Given the description of an element on the screen output the (x, y) to click on. 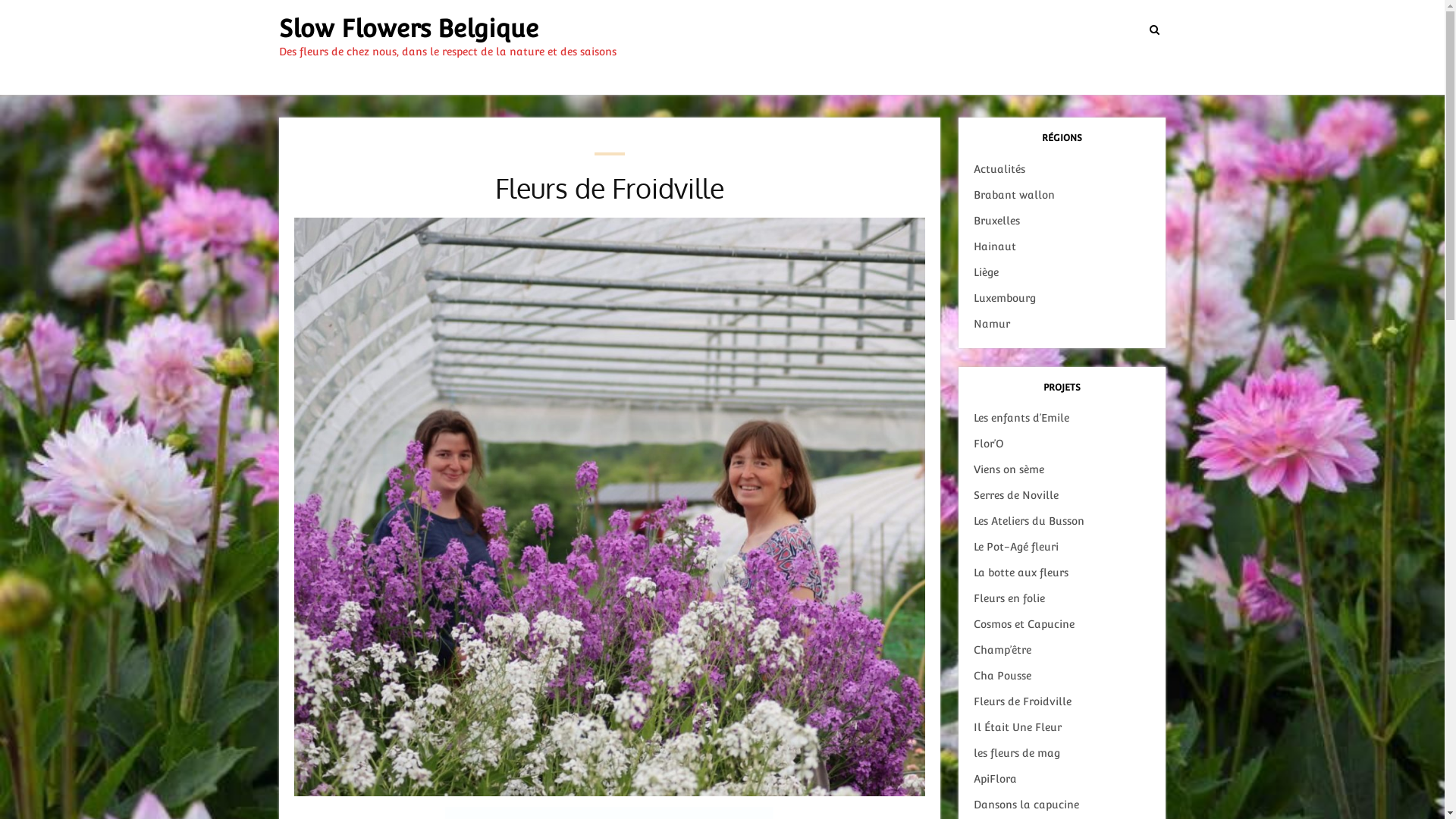
Slow Flowers Belgique Element type: text (408, 28)
Hainaut Element type: text (994, 246)
Brabant wallon Element type: text (1013, 194)
ApiFlora Element type: text (994, 778)
Bruxelles Element type: text (996, 220)
Dansons la capucine Element type: text (1026, 804)
Serres de Noville Element type: text (1015, 495)
Cha Pousse Element type: text (1002, 675)
Fleurs de Froidville Element type: text (1022, 701)
Cosmos et Capucine Element type: text (1023, 624)
Luxembourg Element type: text (1004, 297)
les fleurs de mag Element type: text (1016, 752)
Fleurs en folie Element type: text (1008, 598)
Les Ateliers du Busson Element type: text (1028, 520)
Namur Element type: text (991, 323)
La botte aux fleurs Element type: text (1020, 572)
